Given the description of an element on the screen output the (x, y) to click on. 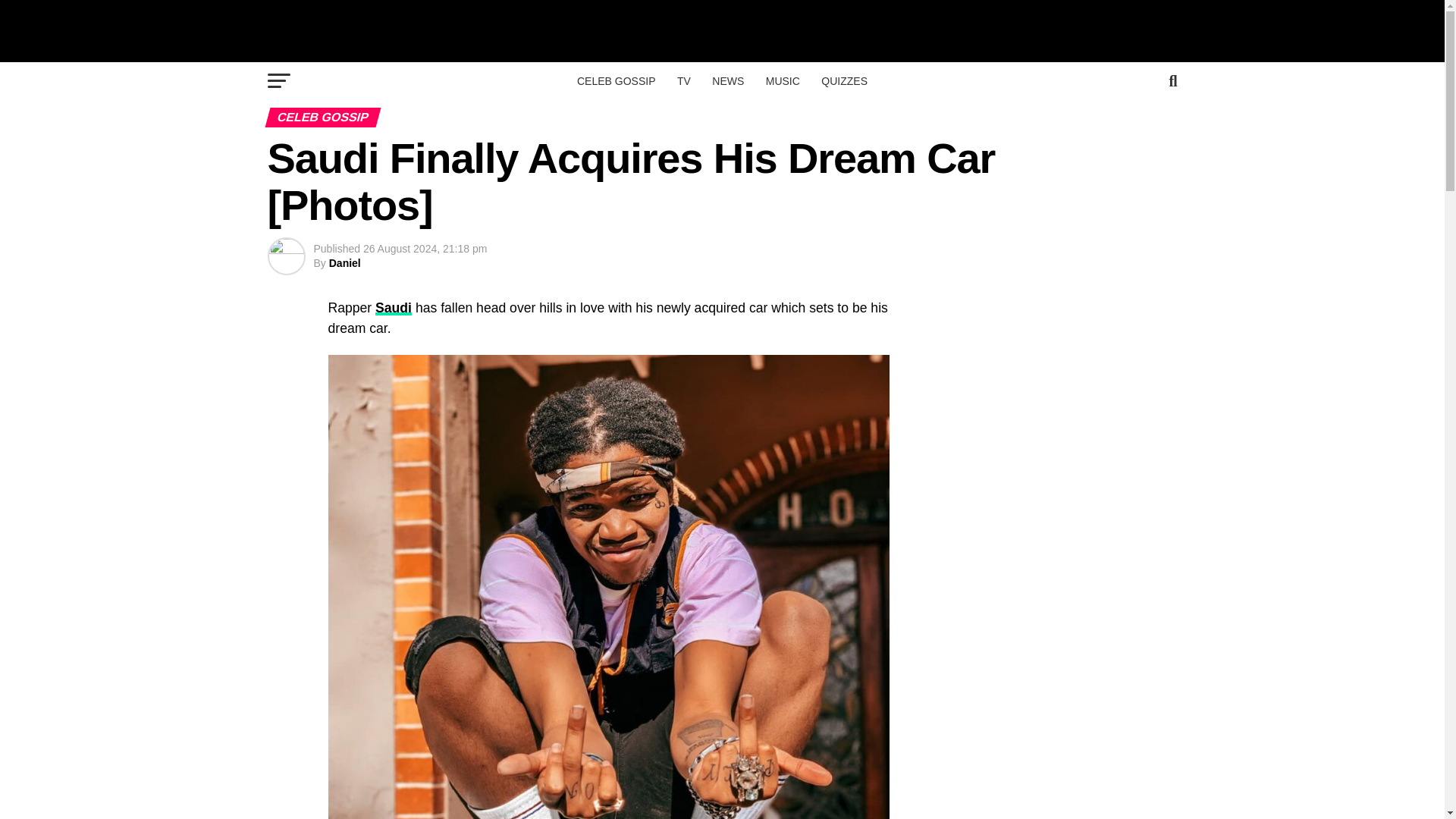
Daniel (345, 263)
CELEB GOSSIP (615, 80)
Saudi (393, 307)
MUSIC (783, 80)
QUIZZES (844, 80)
Posts by Daniel (345, 263)
NEWS (727, 80)
